Given the description of an element on the screen output the (x, y) to click on. 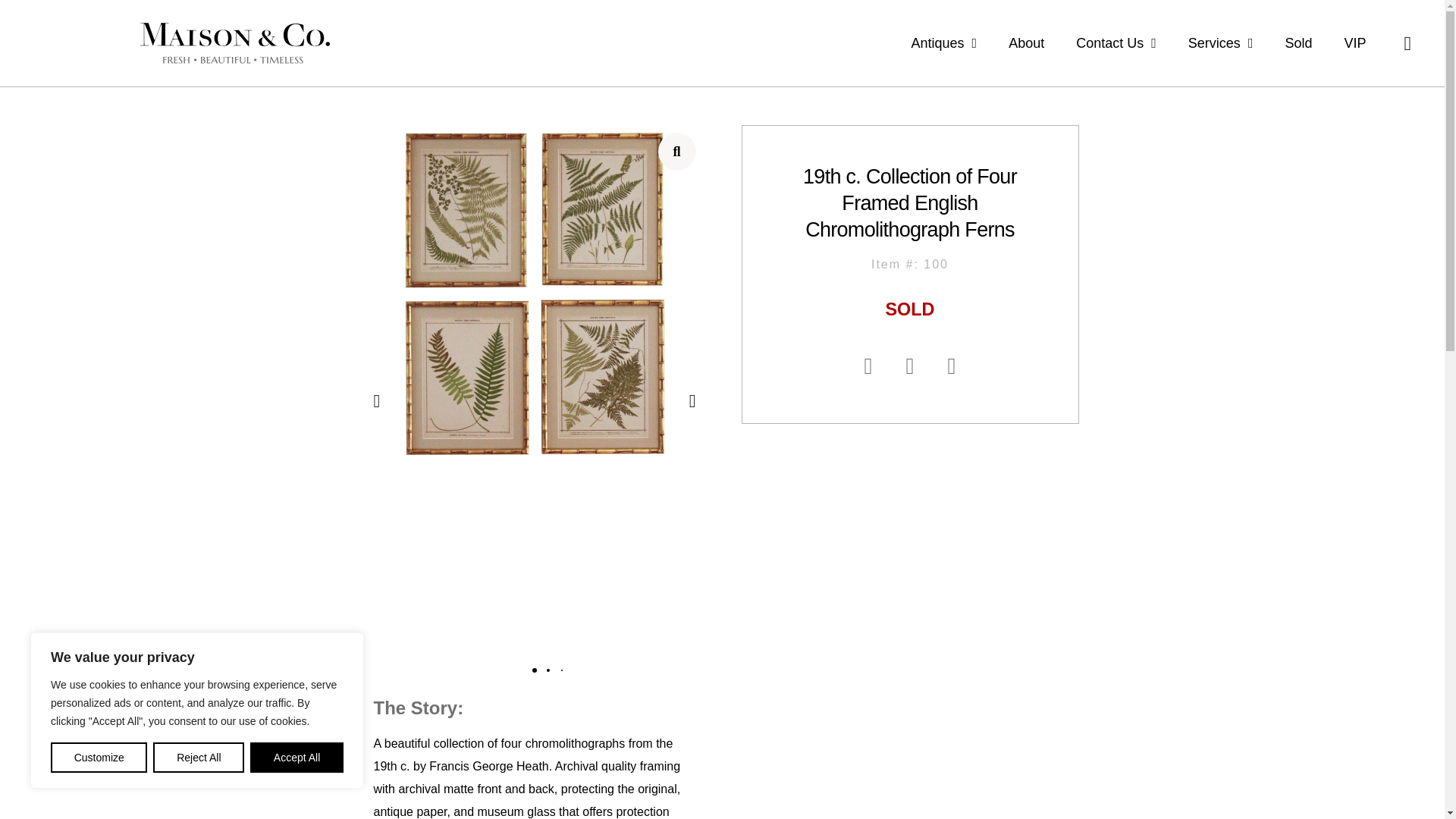
Ferns20B20-20M.jpeg (534, 293)
Services (1220, 42)
VIP (1354, 42)
Sold (1297, 42)
Accept All (296, 757)
Reject All (198, 757)
Antiques (944, 42)
Customize (98, 757)
About (1026, 42)
Contact Us (1115, 42)
